Given the description of an element on the screen output the (x, y) to click on. 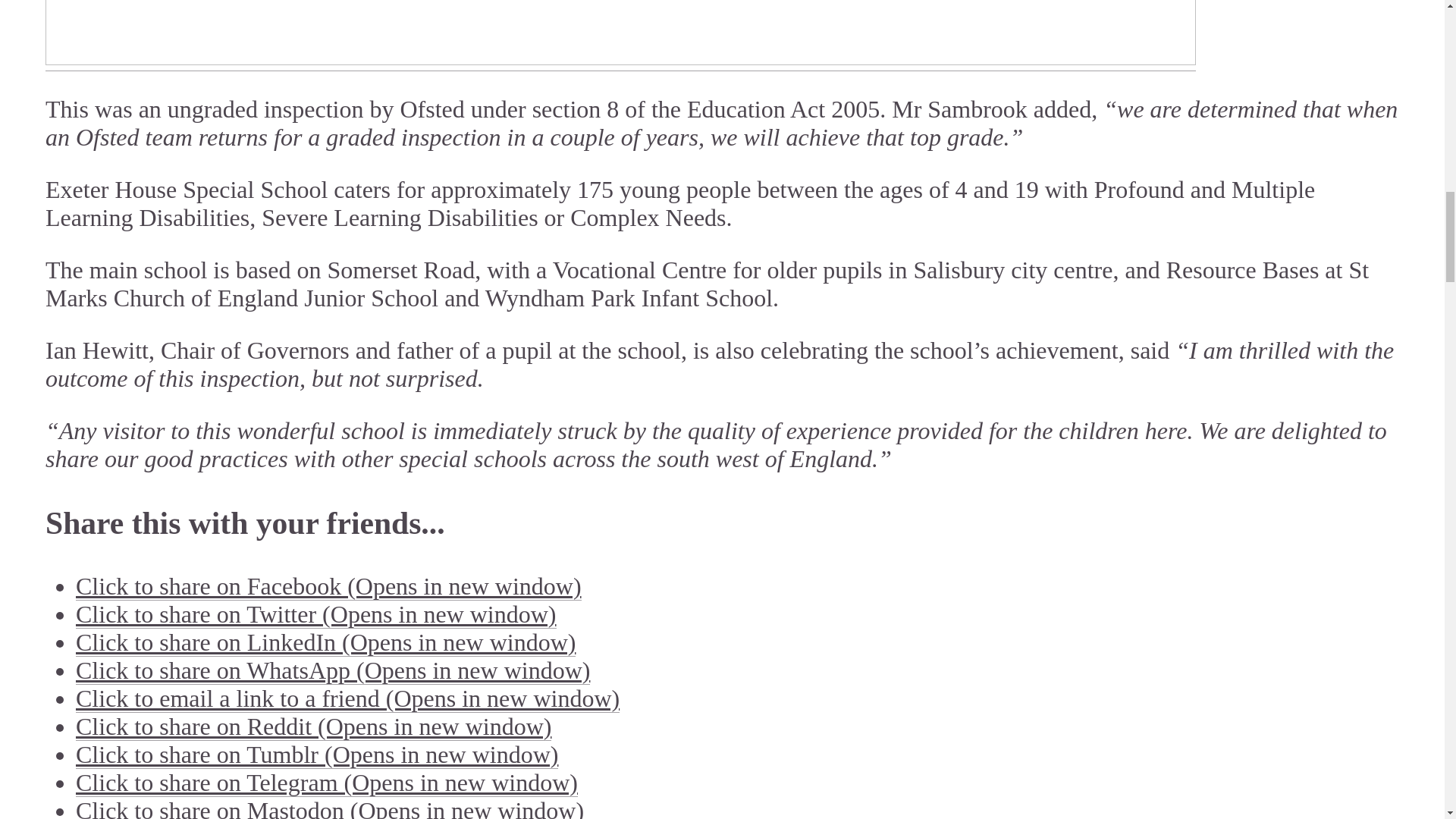
Click to share on Twitter (315, 614)
Click to share on Telegram (326, 782)
Click to share on LinkedIn (325, 642)
Click to share on Facebook (327, 585)
Click to share on WhatsApp (332, 669)
Click to share on Mastodon (329, 807)
Click to share on Reddit (313, 726)
Click to email a link to a friend (347, 697)
Click to share on Tumblr (316, 754)
